Given the description of an element on the screen output the (x, y) to click on. 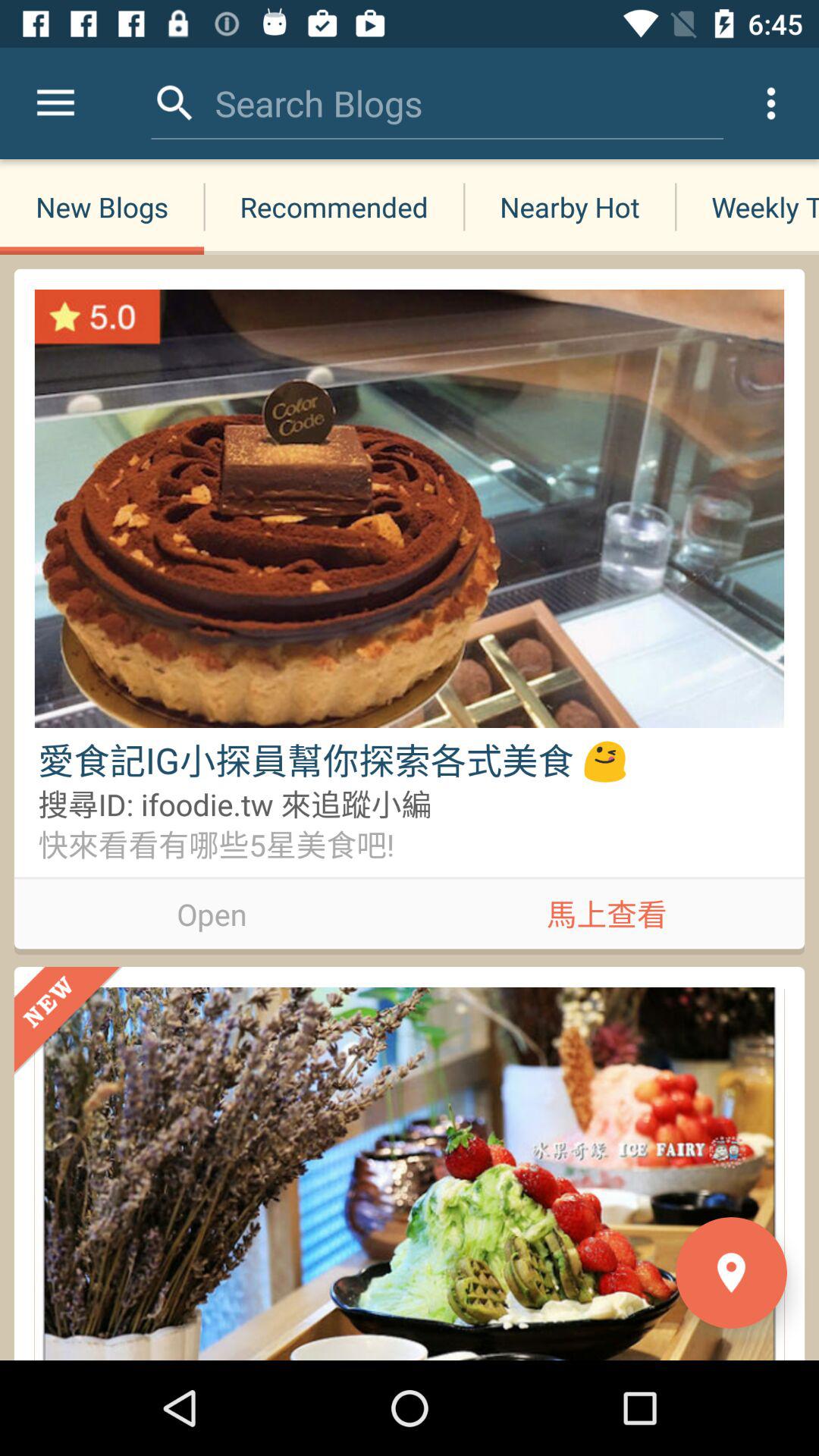
turn on the item next to search blogs (175, 103)
